Given the description of an element on the screen output the (x, y) to click on. 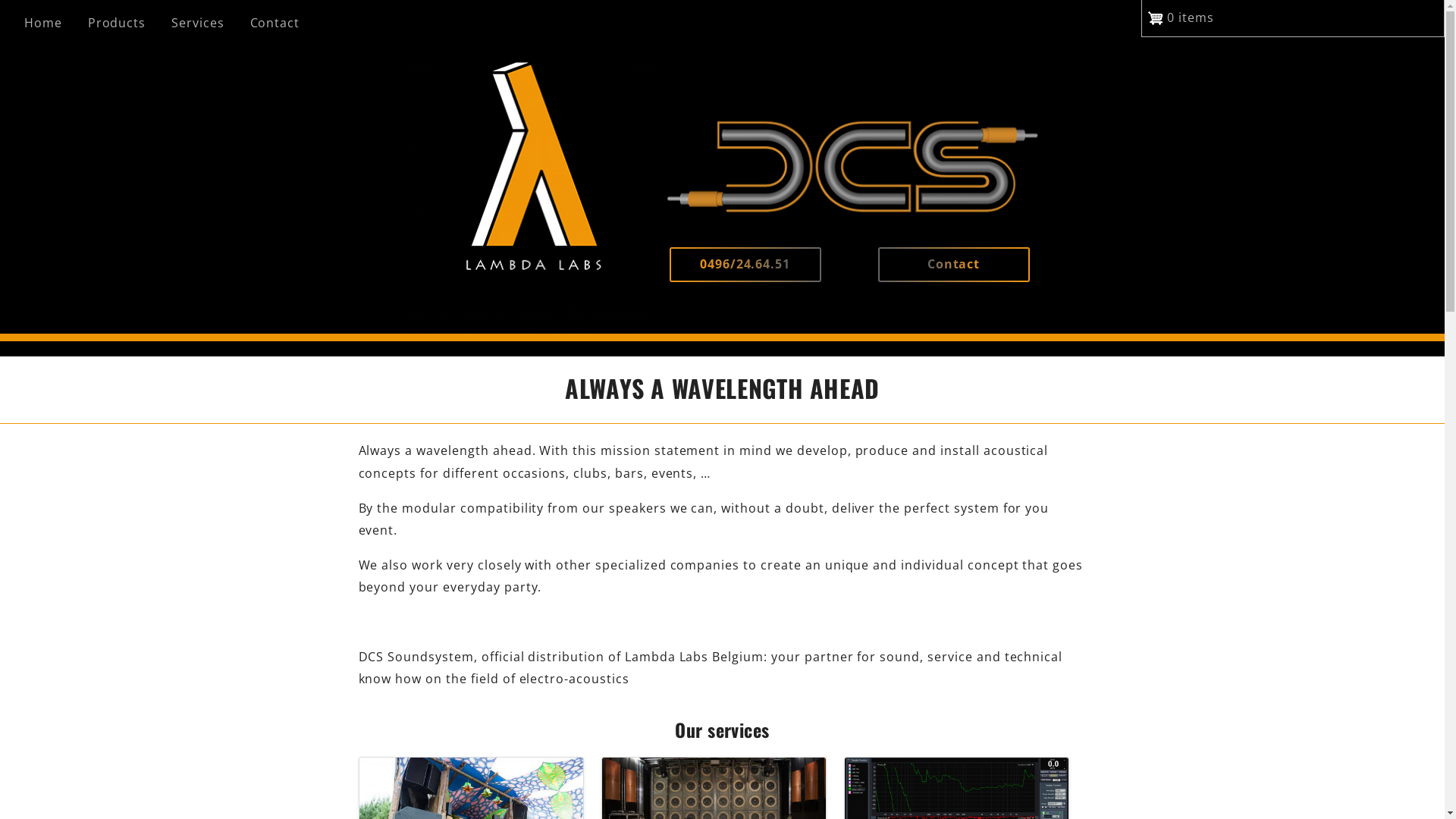
0496/24.64.51 Element type: text (744, 264)
Contact Element type: text (953, 264)
Contact Element type: text (281, 22)
Services Element type: text (203, 22)
Skip to main content Element type: text (0, 0)
0 items Element type: text (1292, 18)
Home Element type: text (49, 22)
Products Element type: text (122, 22)
